Given the description of an element on the screen output the (x, y) to click on. 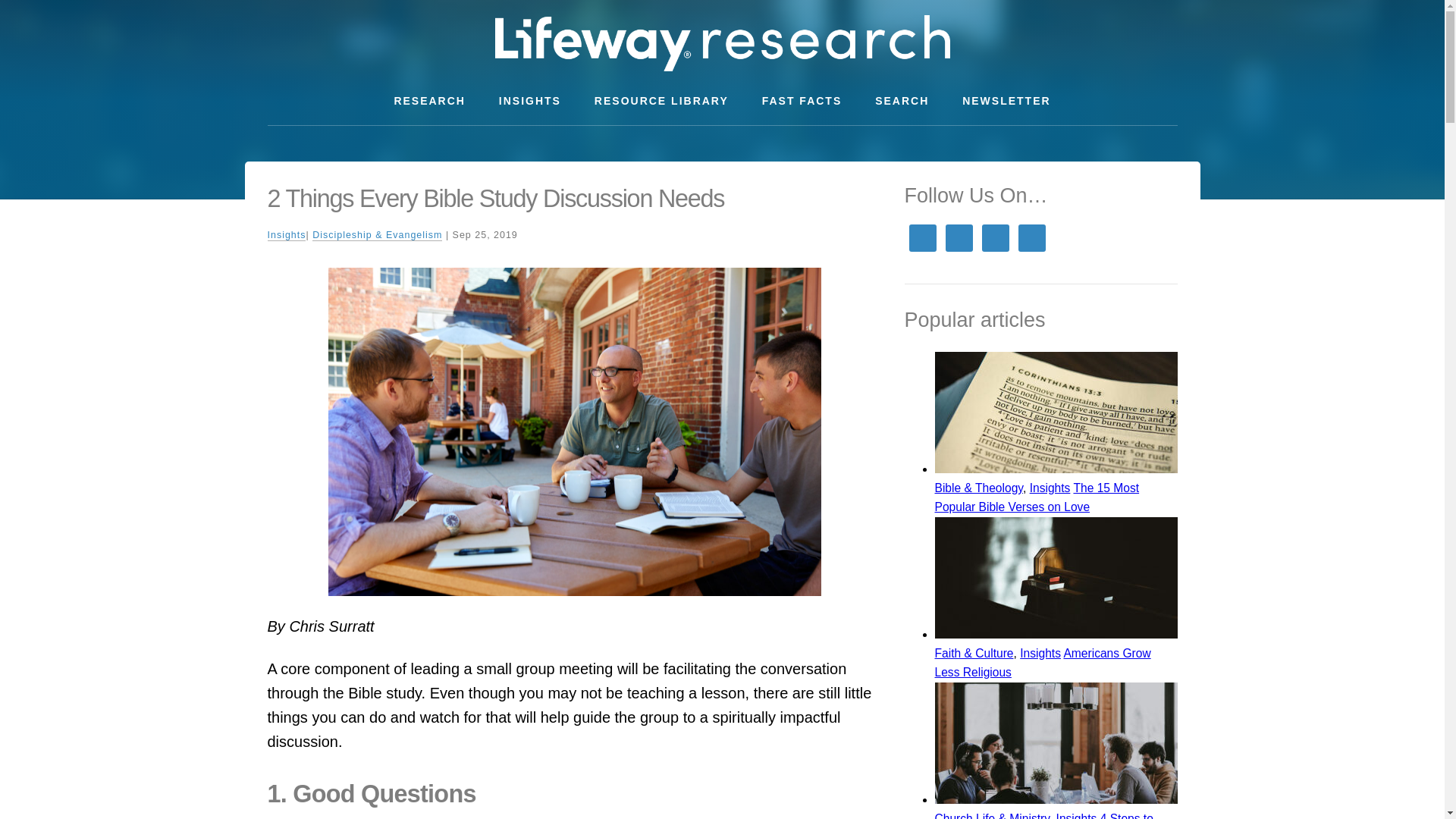
FAST FACTS (801, 100)
RESEARCH (429, 100)
INSIGHTS (529, 100)
NEWSLETTER (1006, 100)
Insights (285, 235)
SEARCH (901, 100)
RESOURCE LIBRARY (661, 100)
